Given the description of an element on the screen output the (x, y) to click on. 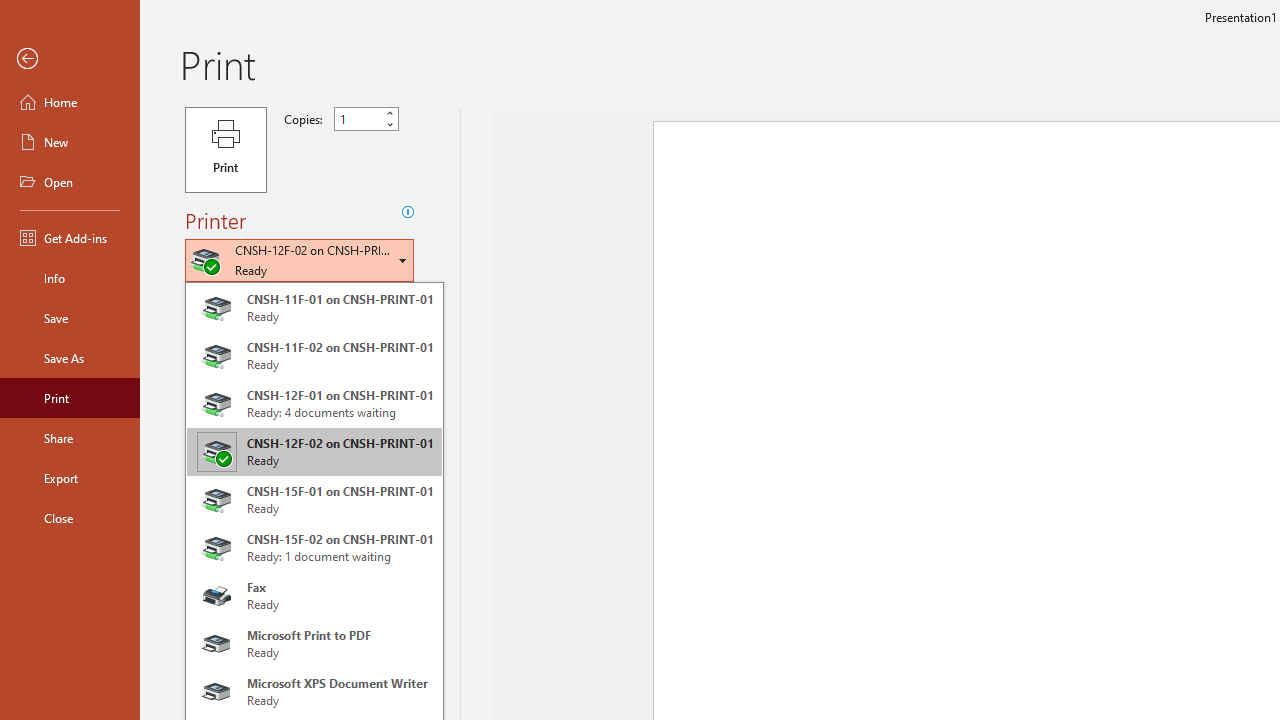
Print (226, 149)
Print (69, 398)
Export (69, 477)
Back (69, 59)
Save As (69, 357)
New (69, 141)
Get Add-ins (69, 237)
Copies (366, 119)
